Given the description of an element on the screen output the (x, y) to click on. 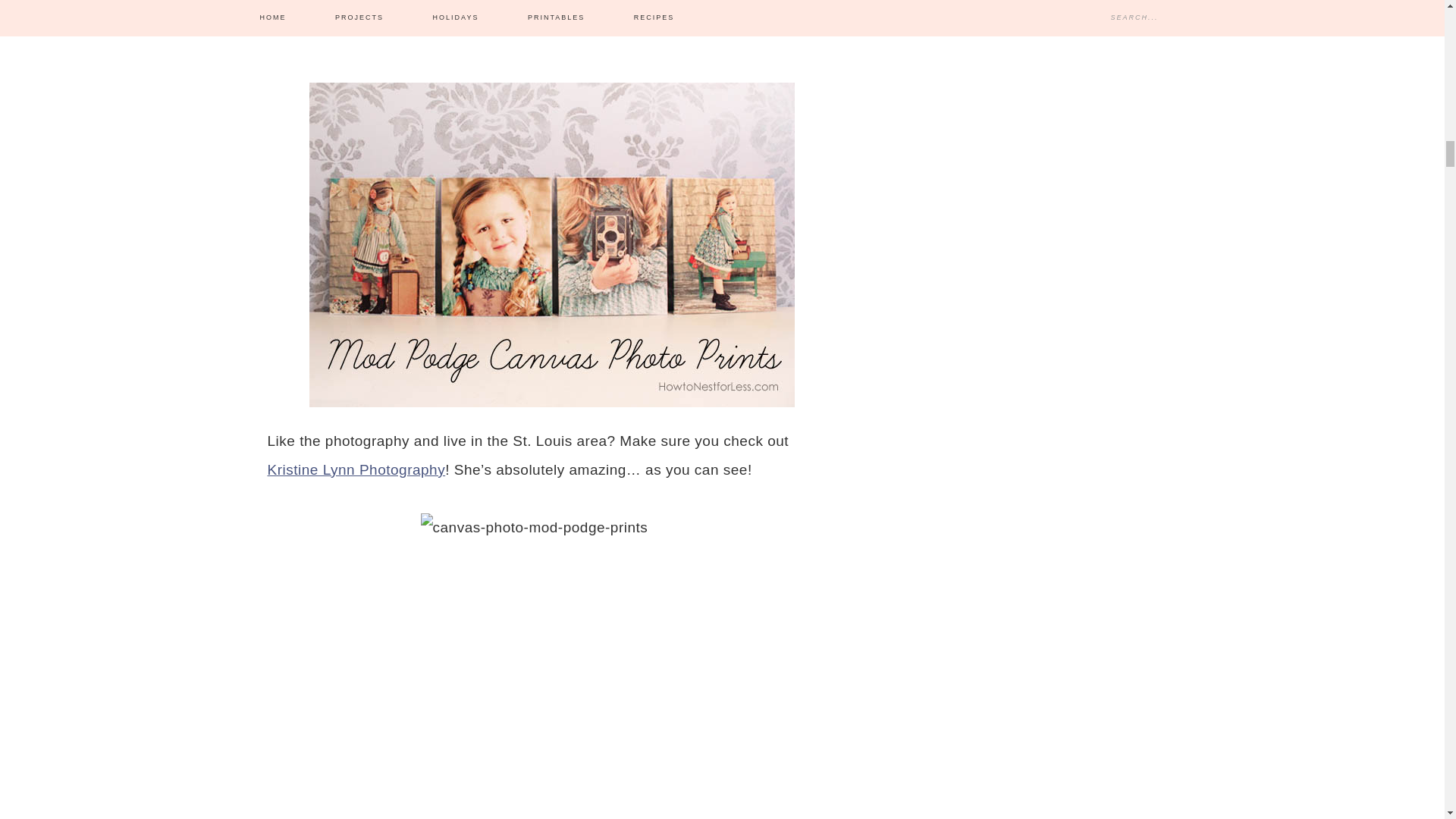
Photography (355, 469)
laundry room canvas prints (551, 31)
Kristine Lynn Photography (355, 469)
